Given the description of an element on the screen output the (x, y) to click on. 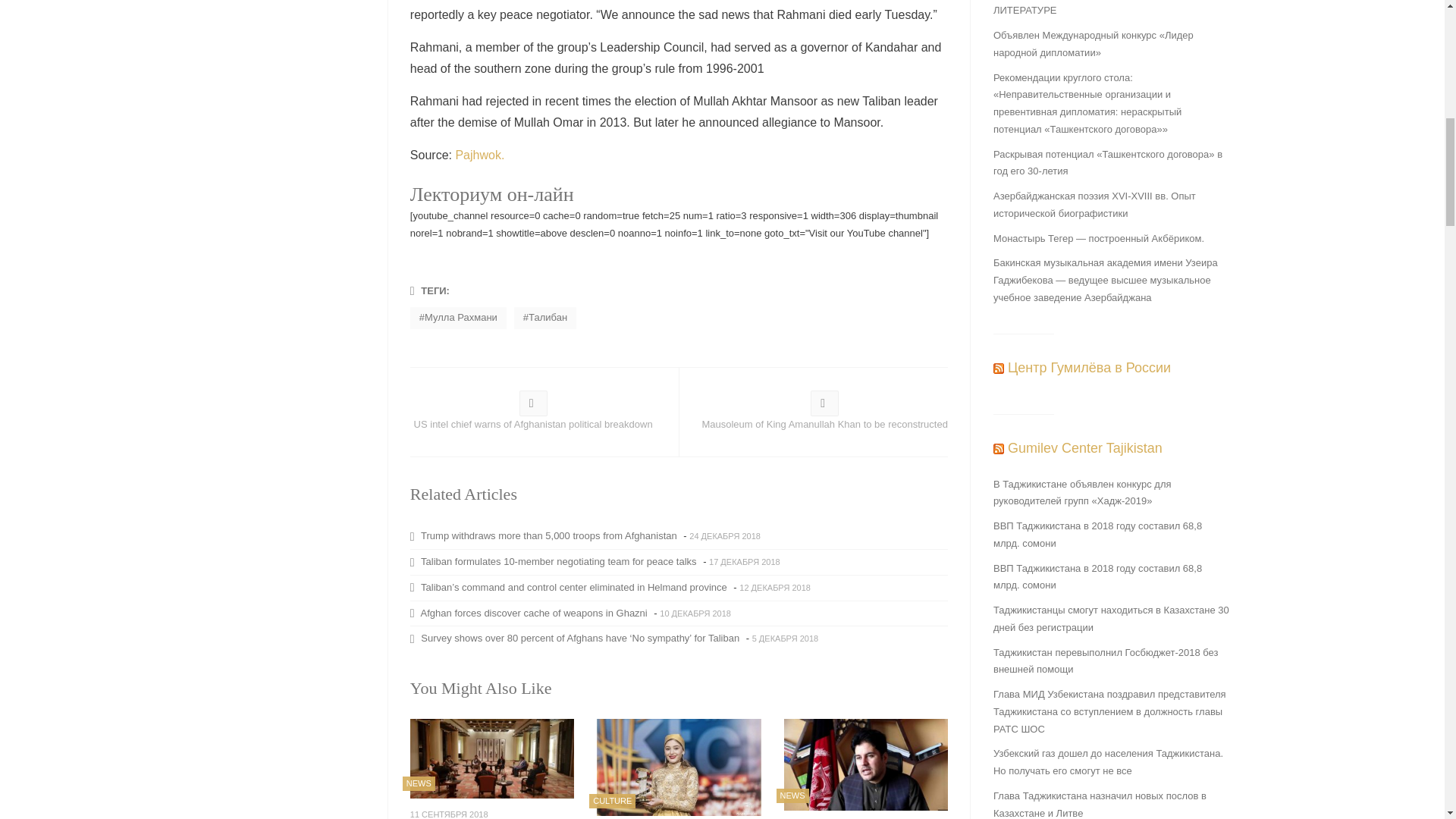
Trump withdraws more than 5,000 troops from Afghanistan (545, 535)
Mausoleum of King Amanullah Khan to be reconstructed (824, 414)
Pajhwok (477, 154)
Afghan forces discover cache of weapons in Ghazni (530, 613)
US intel chief warns of Afghanistan political breakdown (533, 414)
